Given the description of an element on the screen output the (x, y) to click on. 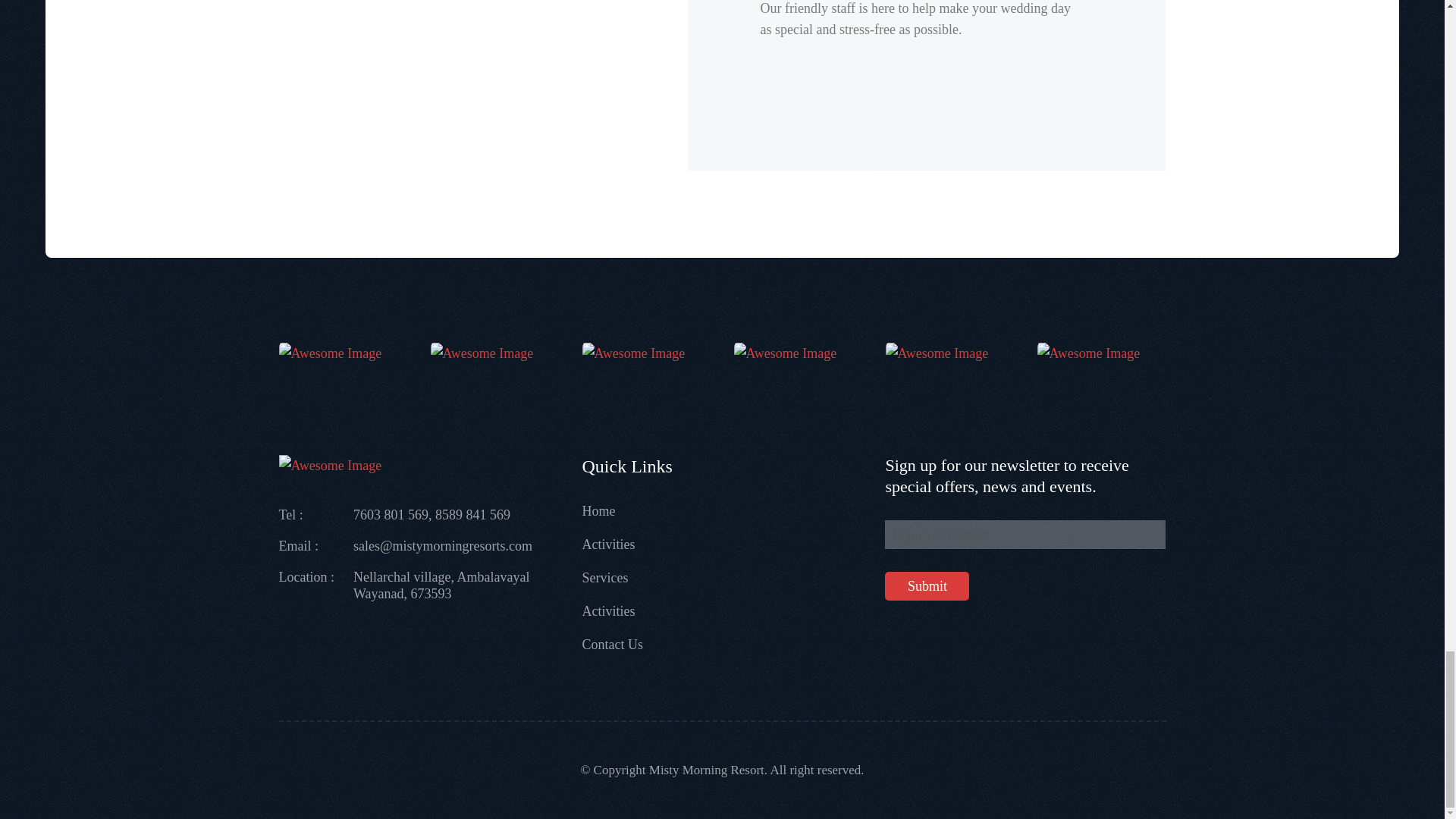
Submit (927, 585)
Services (603, 577)
Home (597, 510)
7603 801 569, 8589 841 569 (432, 514)
Activities (607, 544)
